Given the description of an element on the screen output the (x, y) to click on. 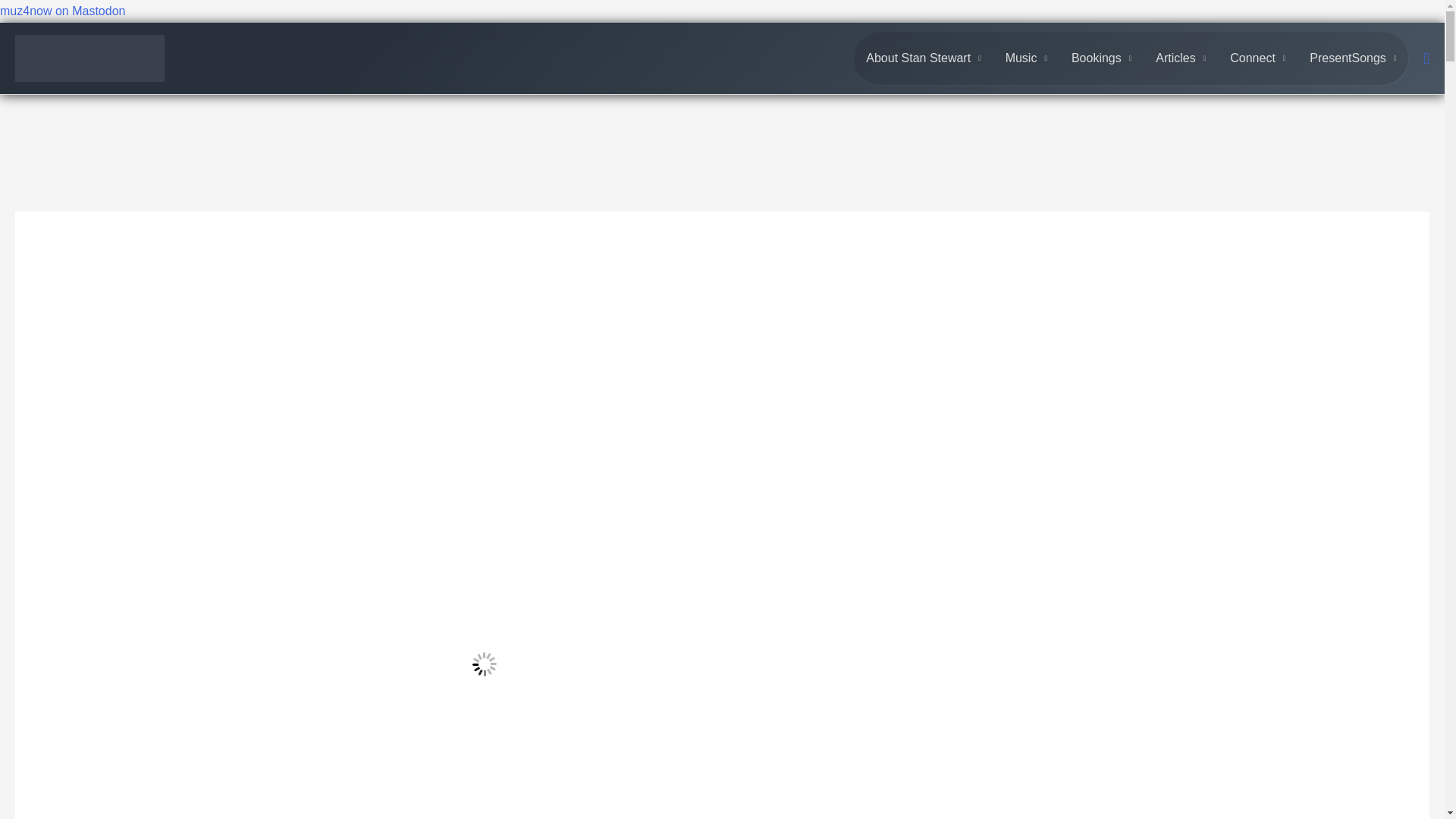
About Stan Stewart (922, 58)
Music (1025, 58)
Articles (1179, 58)
PresentSongs (1352, 58)
Connect (1257, 58)
Bookings (1100, 58)
muz4now on Mastodon (62, 10)
